Given the description of an element on the screen output the (x, y) to click on. 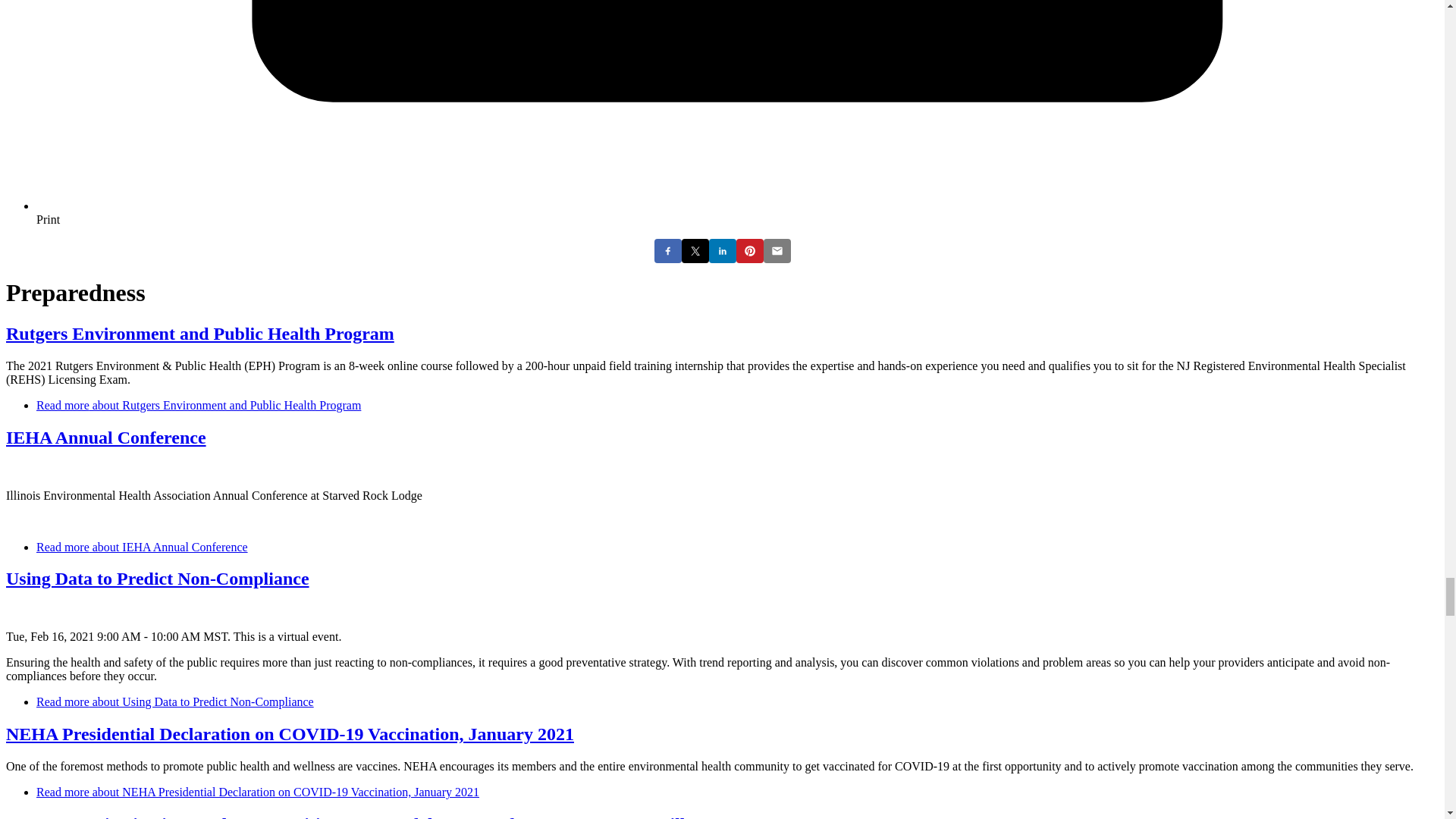
Using Data to Predict Non-Compliance (175, 701)
IEHA Annual Conference (141, 546)
Rutgers Environment and Public Health Program (198, 404)
